Given the description of an element on the screen output the (x, y) to click on. 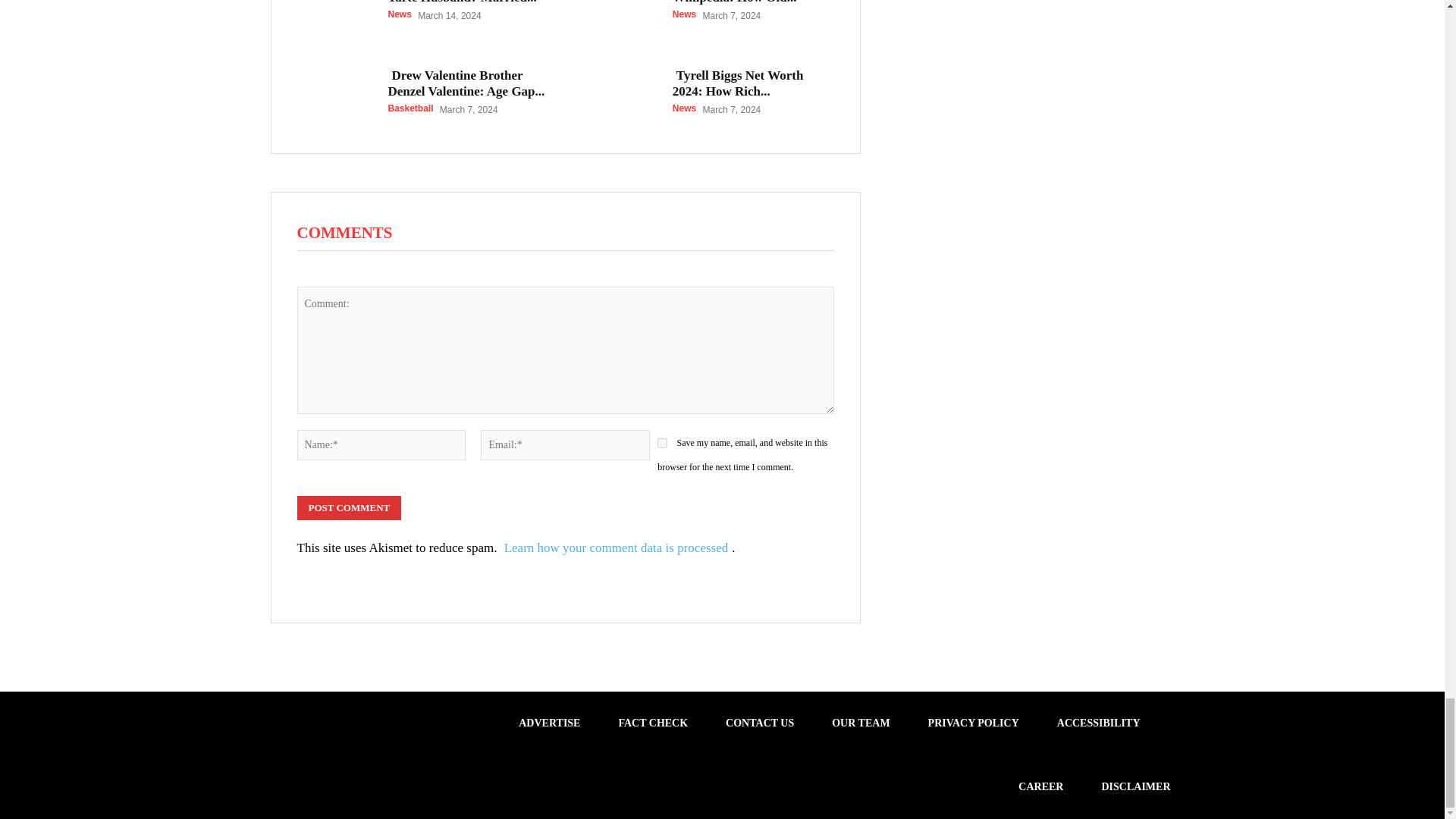
yes (662, 442)
Post Comment (349, 508)
